Given the description of an element on the screen output the (x, y) to click on. 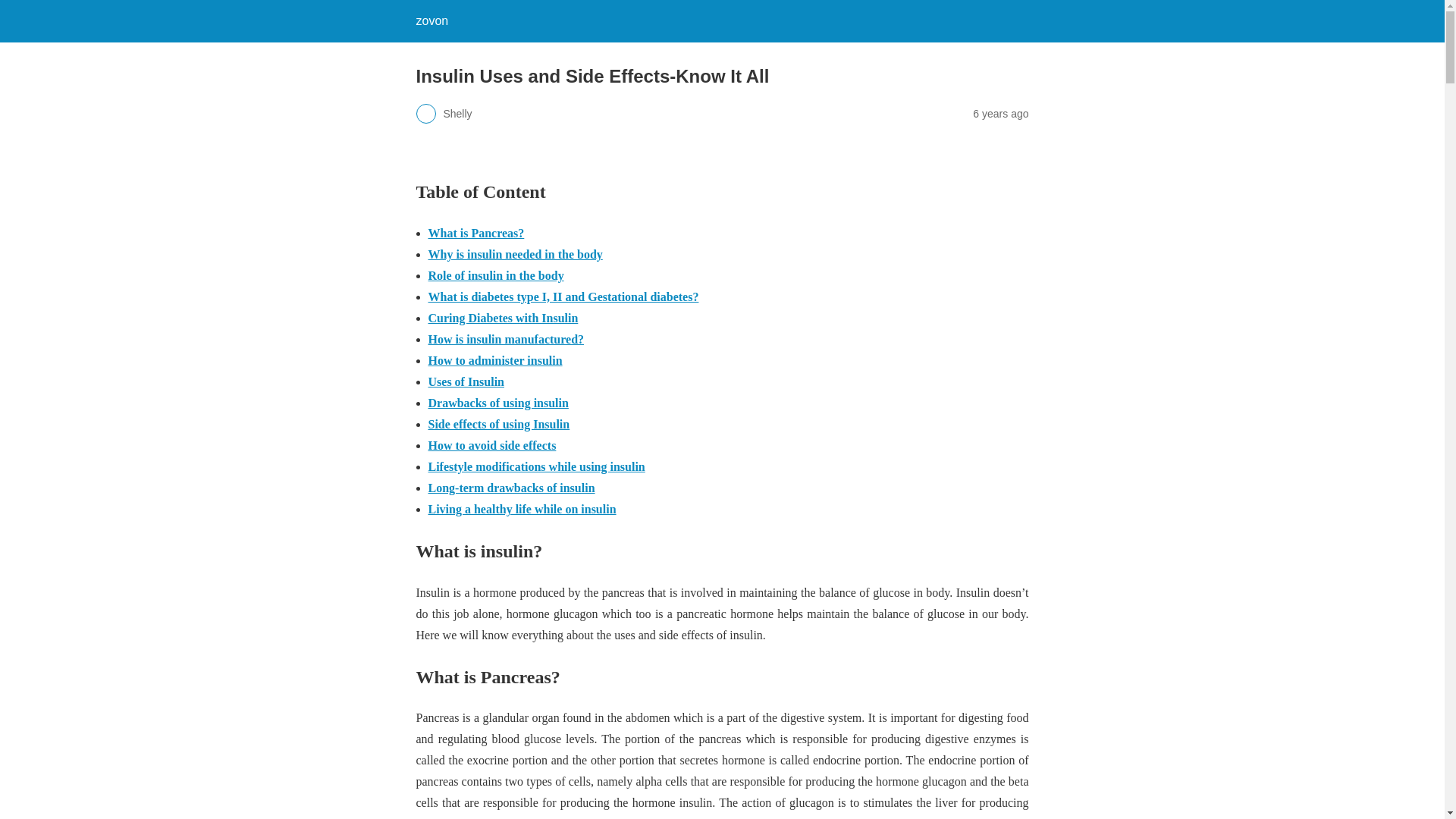
Role of insulin in the body (495, 275)
Long-term drawbacks of insulin (511, 487)
What is Pancreas? (476, 232)
What is diabetes type I, II and Gestational diabetes? (563, 296)
Lifestyle modifications while using insulin (536, 466)
Uses of Insulin (465, 381)
zovon (431, 20)
Why is insulin needed in the body (515, 254)
How to administer insulin (495, 359)
Drawbacks of using insulin (497, 402)
Living a healthy life while on insulin (521, 508)
How to avoid side effects (492, 445)
How is insulin manufactured? (505, 338)
Curing Diabetes with Insulin (503, 318)
Side effects of using Insulin (498, 423)
